Given the description of an element on the screen output the (x, y) to click on. 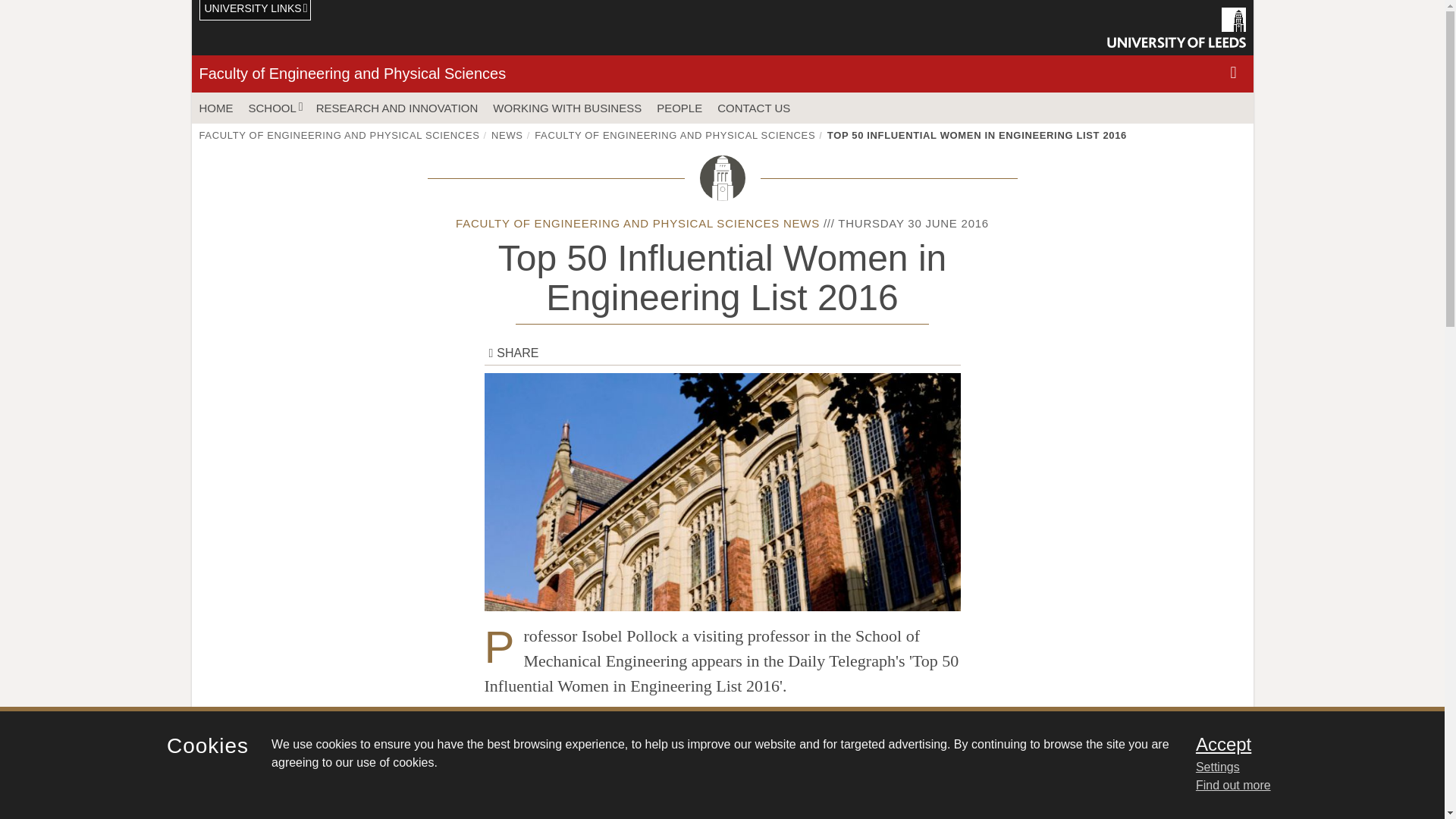
Find out more (1233, 784)
Accept (1300, 744)
University of Leeds homepage (1176, 27)
Settings (1300, 767)
UNIVERSITY LINKS (254, 10)
